Given the description of an element on the screen output the (x, y) to click on. 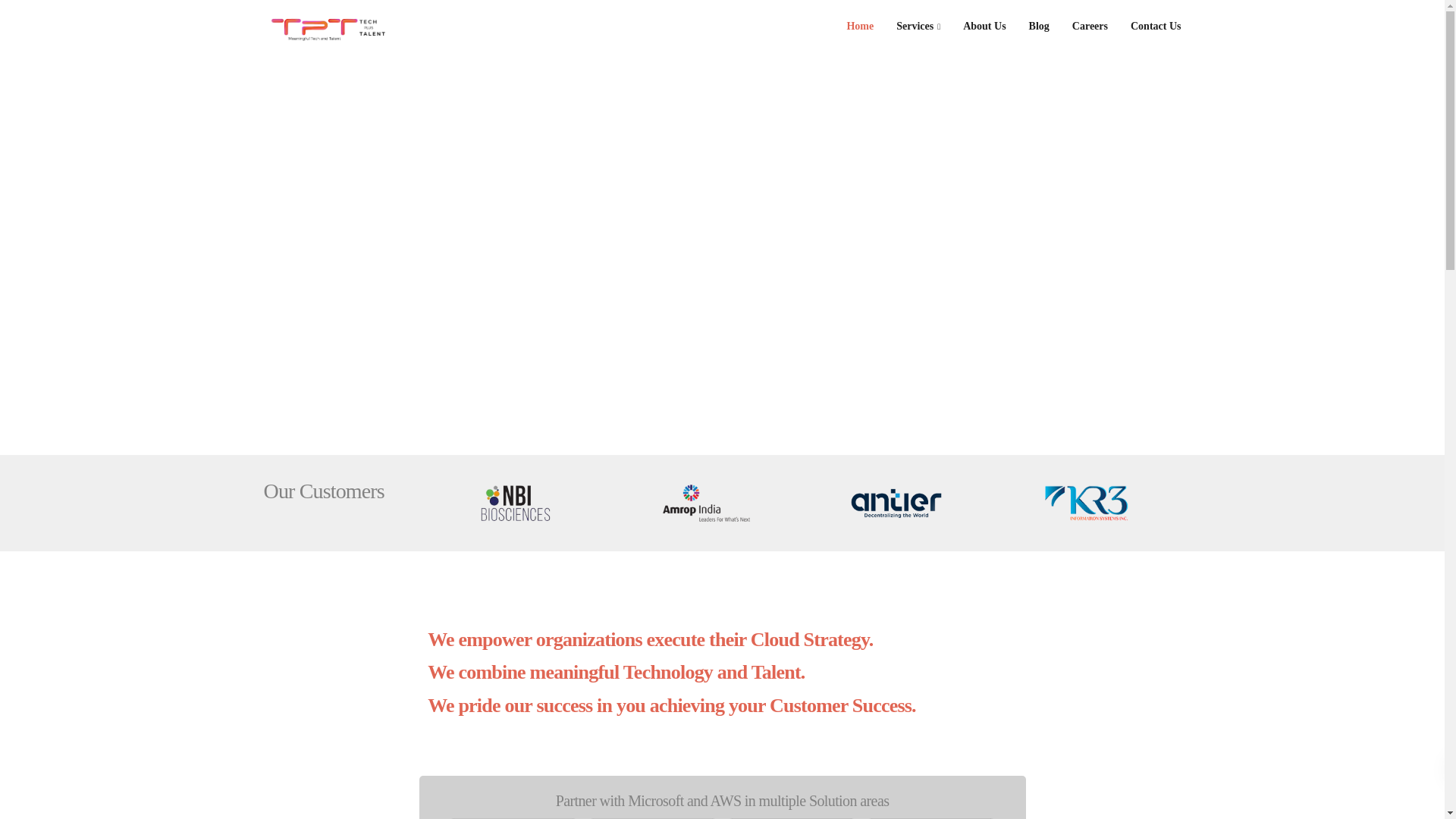
Services (918, 25)
Contact Us (1155, 25)
Home (859, 25)
Services (918, 25)
Home (859, 25)
Careers (1090, 25)
About Us (984, 25)
